Given the description of an element on the screen output the (x, y) to click on. 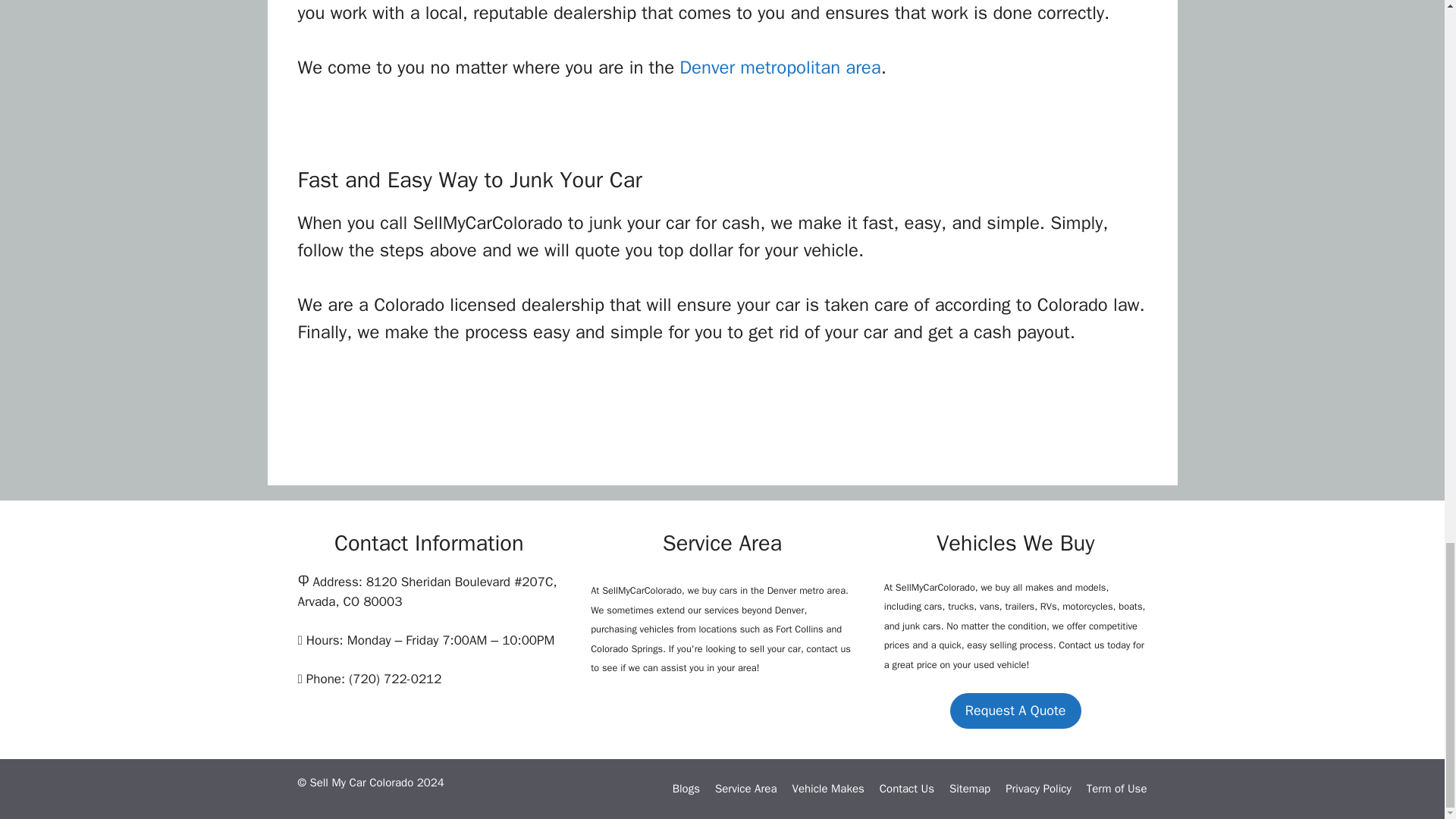
Sitemap (969, 788)
Service Area (745, 788)
Request A Quote (1015, 710)
Contact Us (906, 788)
Vehicle Makes (827, 788)
Term of Use (1116, 788)
Blogs (686, 788)
Denver metropolitan area (779, 67)
Privacy Policy (1038, 788)
